Given the description of an element on the screen output the (x, y) to click on. 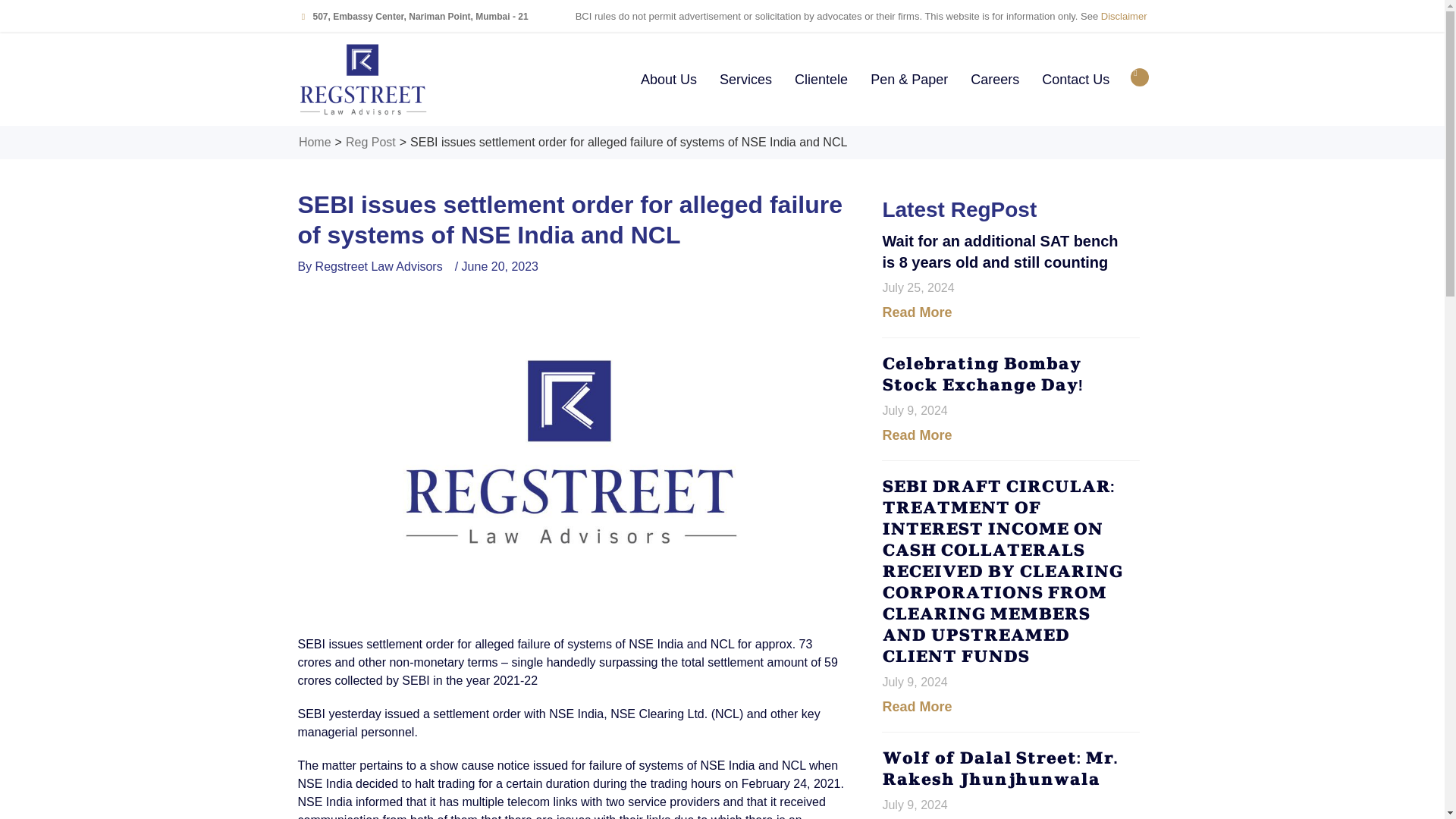
Contact Us (1075, 79)
Clientele (821, 79)
Services (745, 79)
Careers (994, 79)
Disclaimer (1123, 16)
About Us (667, 79)
